Given the description of an element on the screen output the (x, y) to click on. 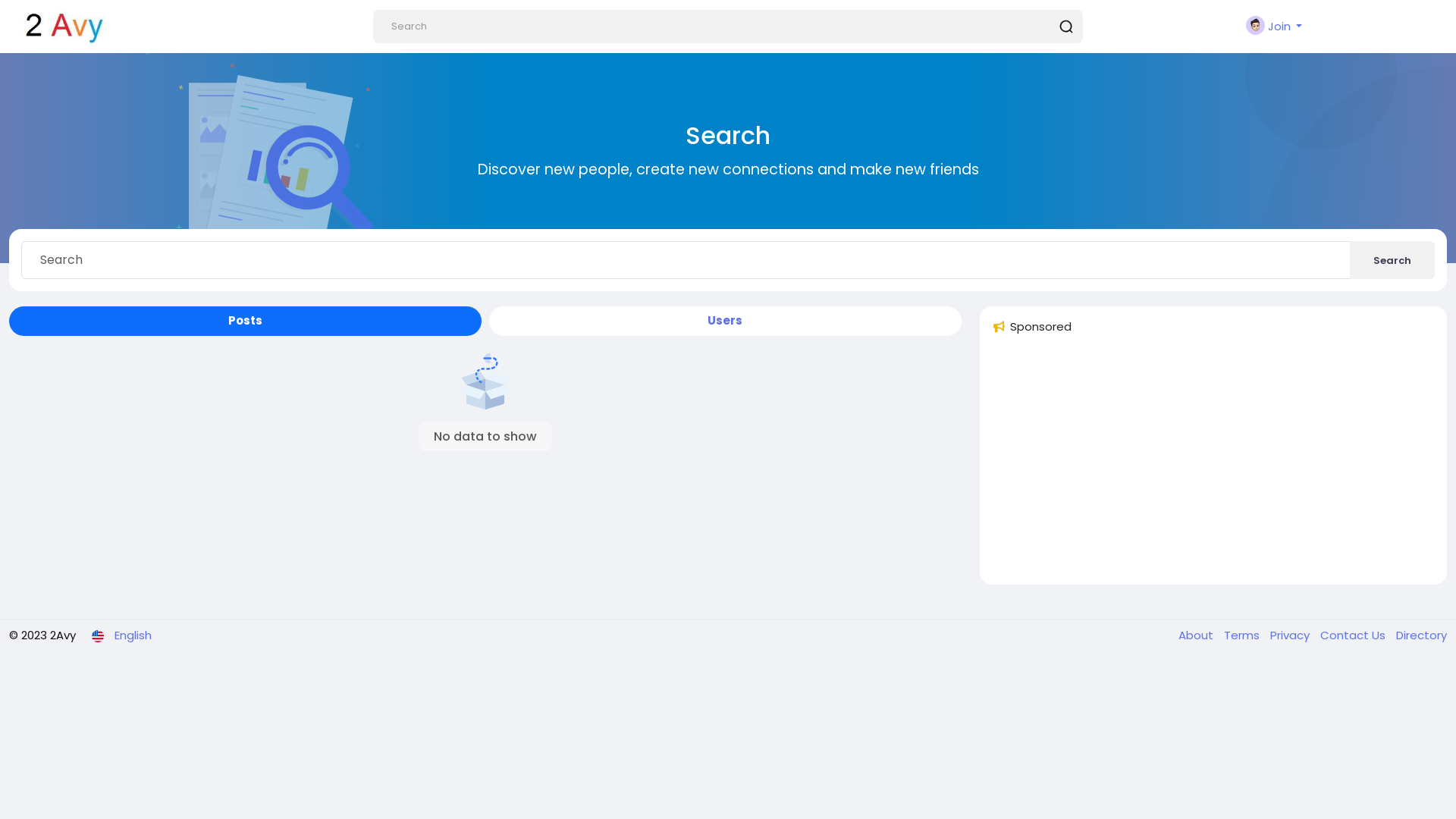
2Avy Element type: hover (63, 28)
Contact Us Element type: text (1350, 635)
Directory Element type: text (1417, 635)
Search Element type: text (1391, 260)
English Element type: text (121, 635)
Terms Element type: text (1239, 635)
Join Element type: text (1273, 26)
Users Element type: text (724, 320)
Advertisement Element type: hover (1212, 466)
About Element type: text (1197, 635)
Posts Element type: text (245, 320)
Privacy Element type: text (1287, 635)
